Given the description of an element on the screen output the (x, y) to click on. 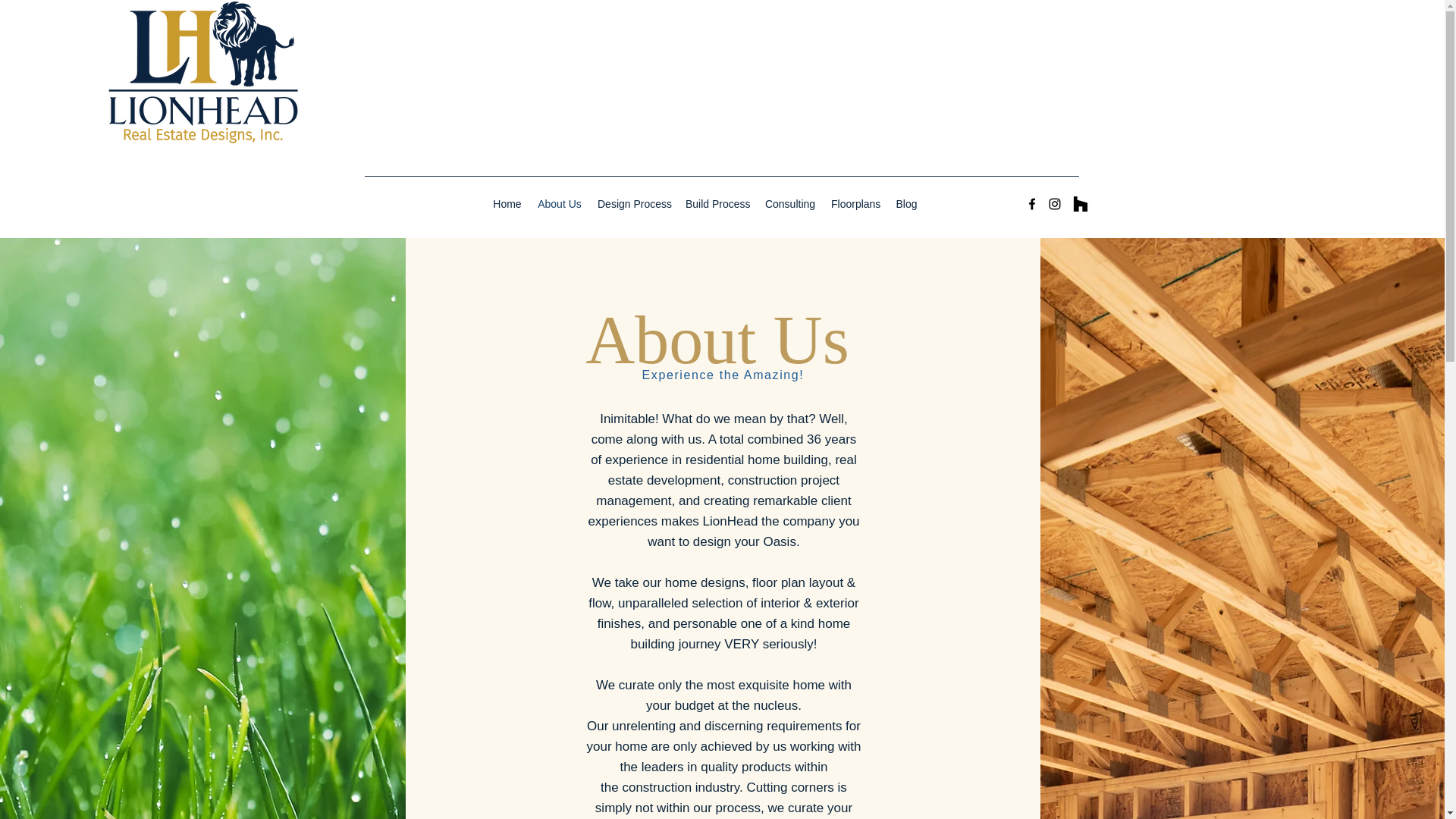
Blog (906, 203)
About Us (559, 203)
Home (506, 203)
